Given the description of an element on the screen output the (x, y) to click on. 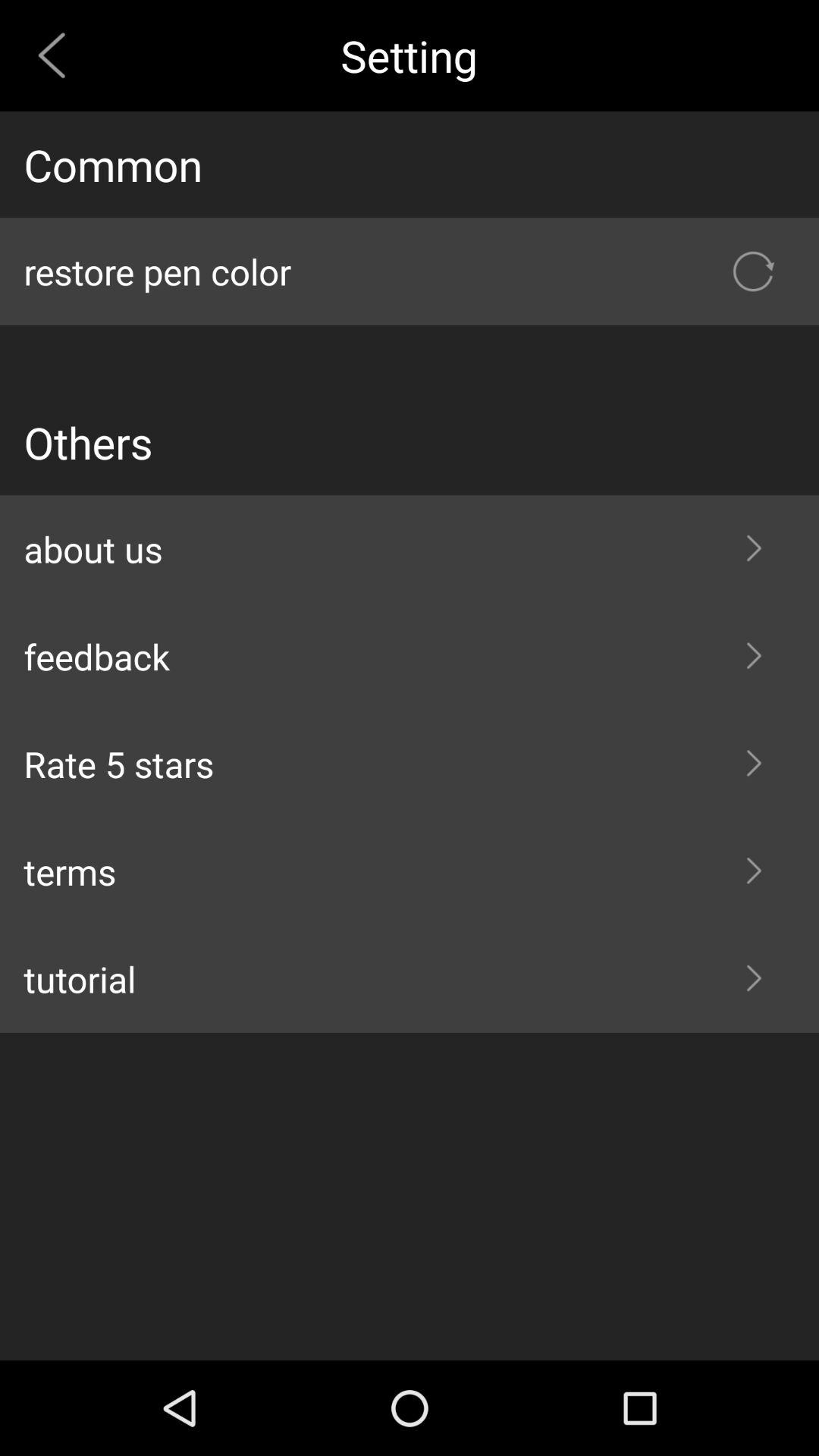
tap the tutorial at the bottom (409, 978)
